Given the description of an element on the screen output the (x, y) to click on. 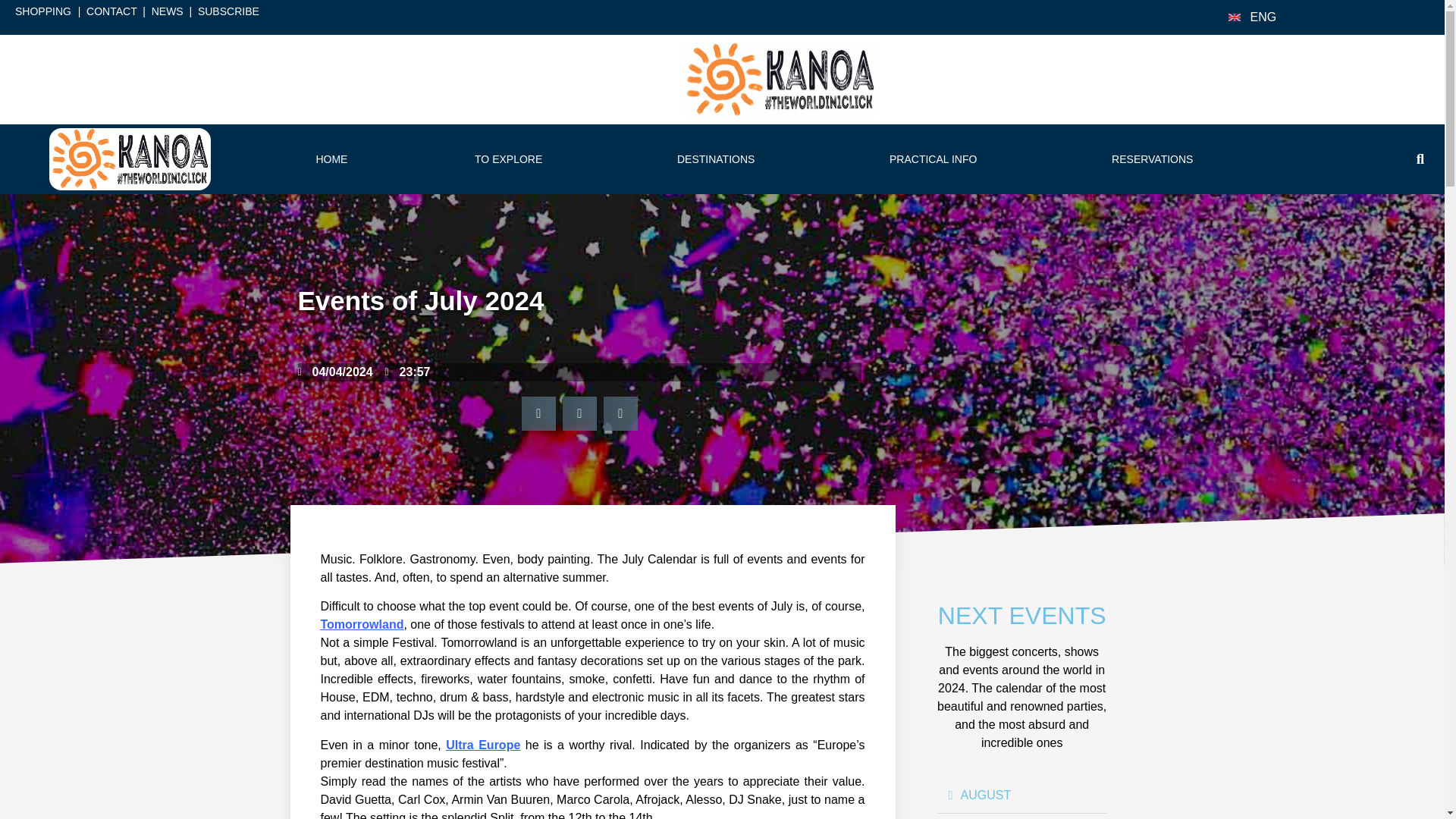
SHOPPING (42, 10)
SUBSCRIBE (228, 10)
DESTINATIONS (718, 158)
CONTACT (110, 10)
NEWS (167, 10)
HOME (331, 158)
ENG (1263, 16)
PRACTICAL INFO (936, 158)
TO EXPLORE (511, 158)
